Given the description of an element on the screen output the (x, y) to click on. 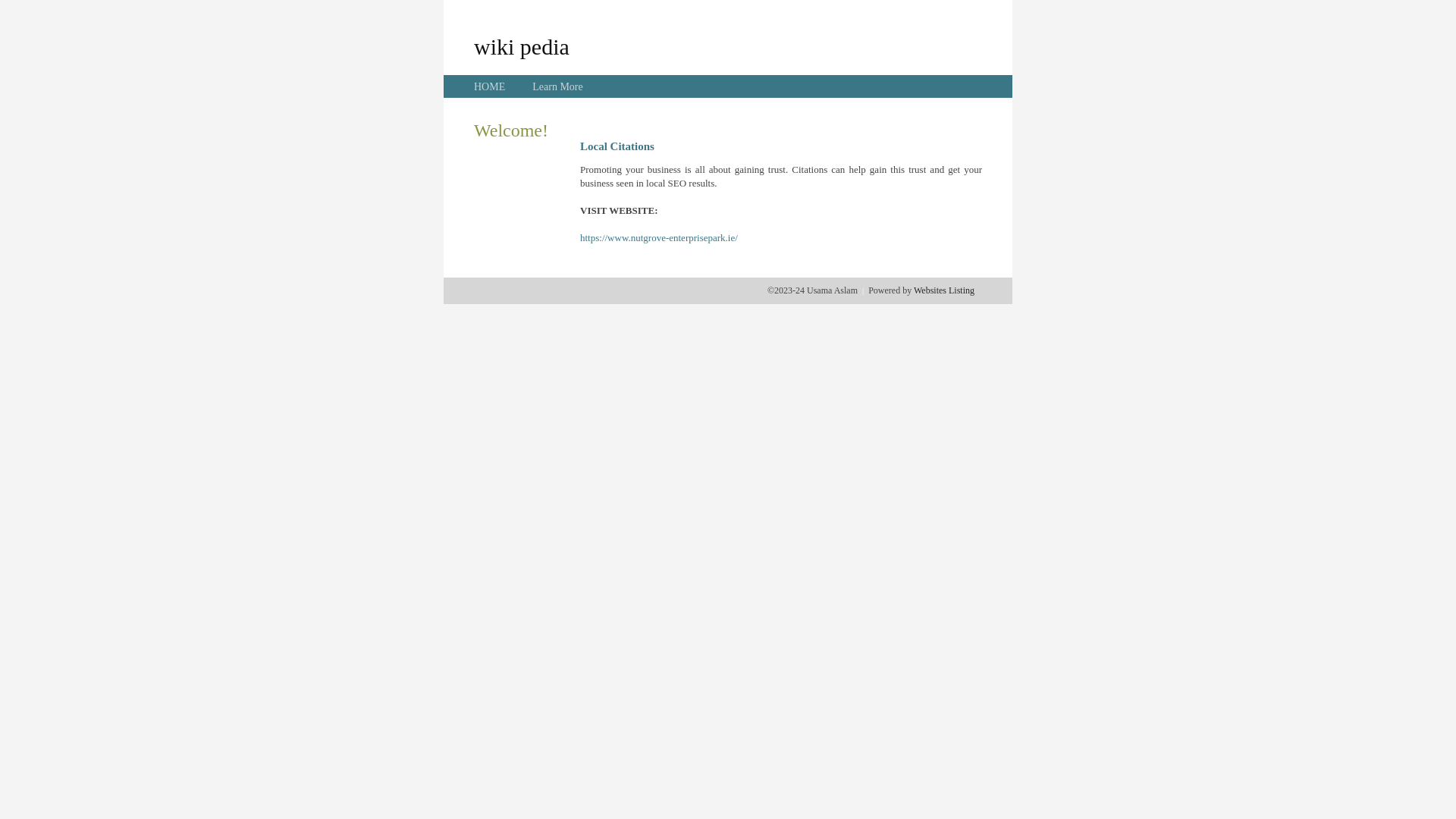
HOME Element type: text (489, 86)
https://www.nutgrove-enterprisepark.ie/ Element type: text (658, 237)
wiki pedia Element type: text (521, 46)
Learn More Element type: text (557, 86)
Websites Listing Element type: text (943, 290)
